Given the description of an element on the screen output the (x, y) to click on. 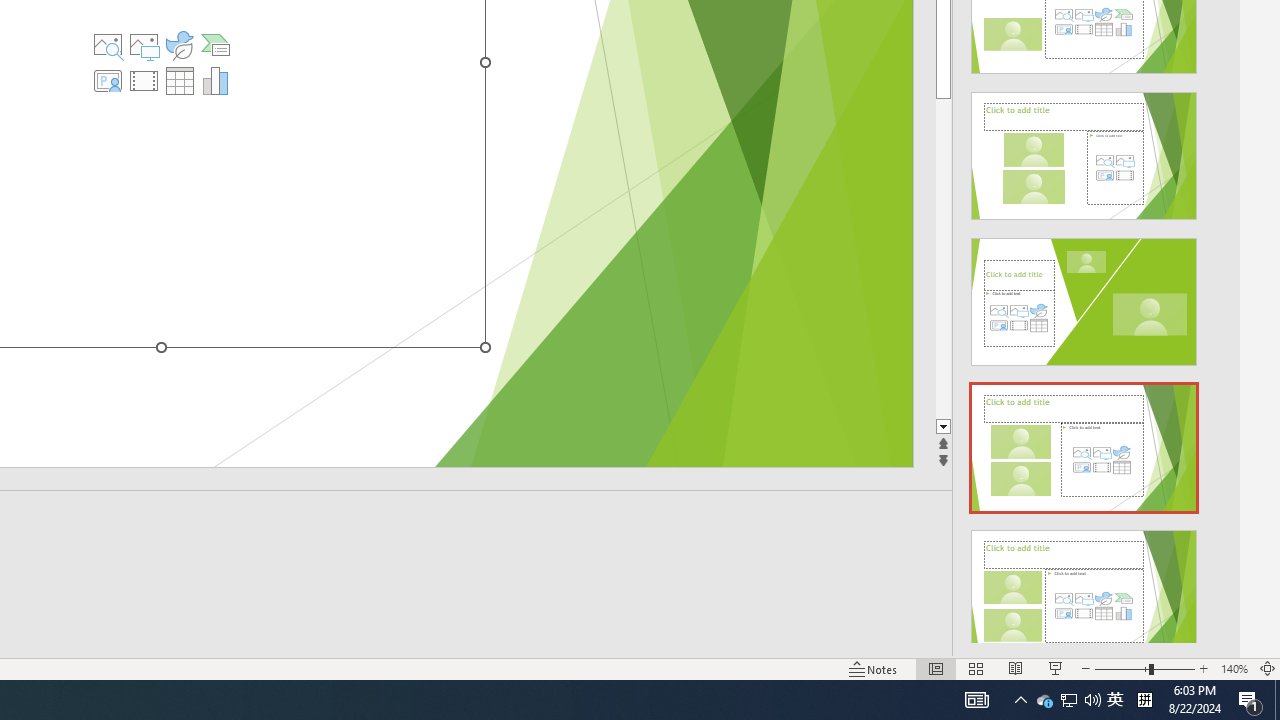
Insert Video (144, 80)
Insert a SmartArt Graphic (215, 44)
Insert an Icon (179, 44)
Stock Images (108, 44)
Insert Chart (215, 80)
Insert Cameo (108, 80)
Design Idea (1083, 587)
